Given the description of an element on the screen output the (x, y) to click on. 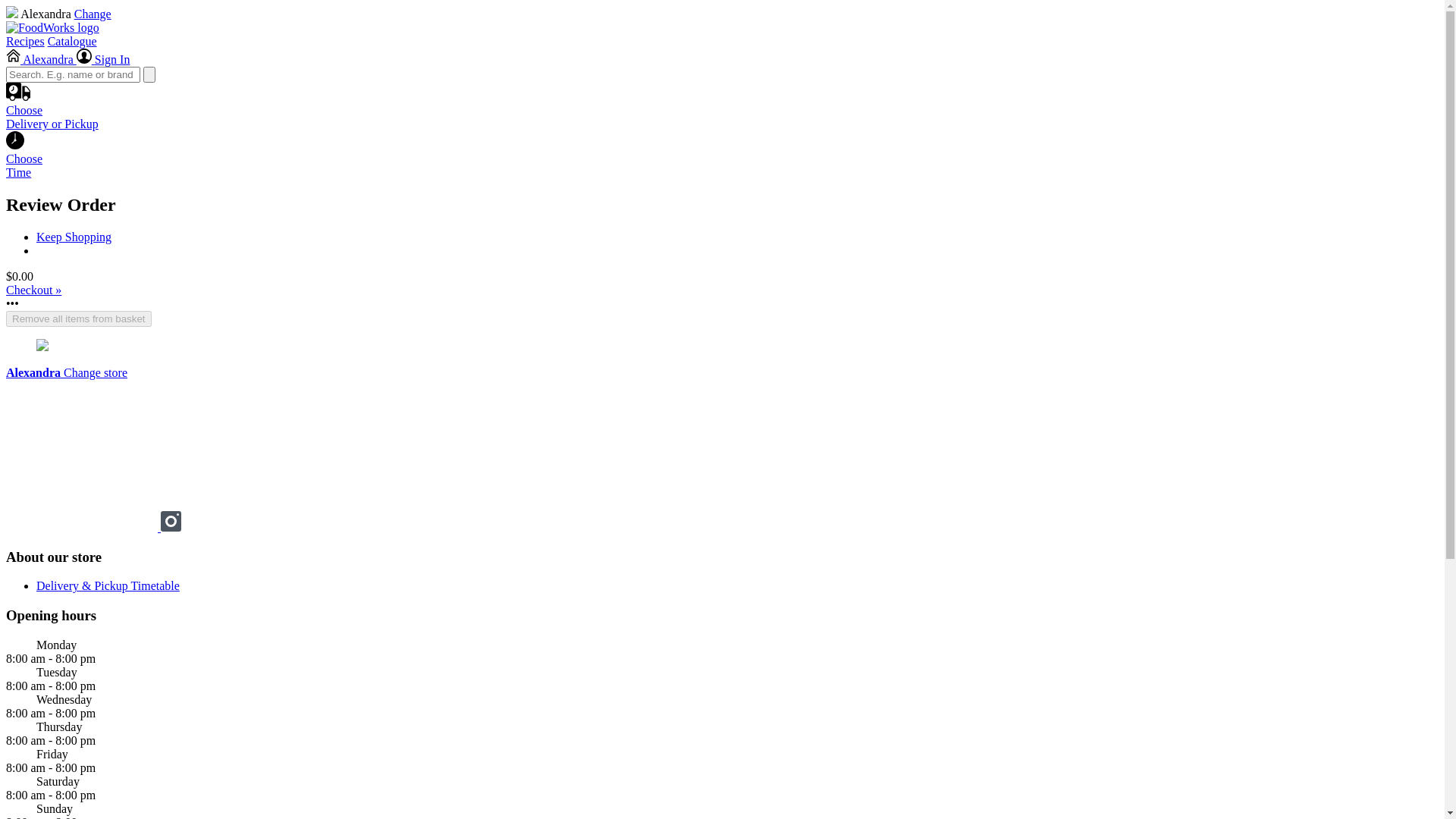
Change Element type: text (92, 13)
Instagram foodworks_alexandra Element type: hover (170, 526)
Recipes Element type: text (25, 40)
Catalogue Element type: text (72, 40)
Choose
Delivery or Pickup Element type: text (722, 120)
Remove all items from basket Element type: text (78, 318)
Delivery & Pickup Timetable Element type: text (107, 585)
Alexandra Element type: text (41, 59)
Sign In Element type: text (103, 59)
Facebook Element type: hover (83, 526)
Alexandra Change store Element type: text (66, 372)
Choose
Time Element type: text (722, 158)
Search Element type: hover (149, 74)
Keep Shopping Element type: text (73, 236)
